Given the description of an element on the screen output the (x, y) to click on. 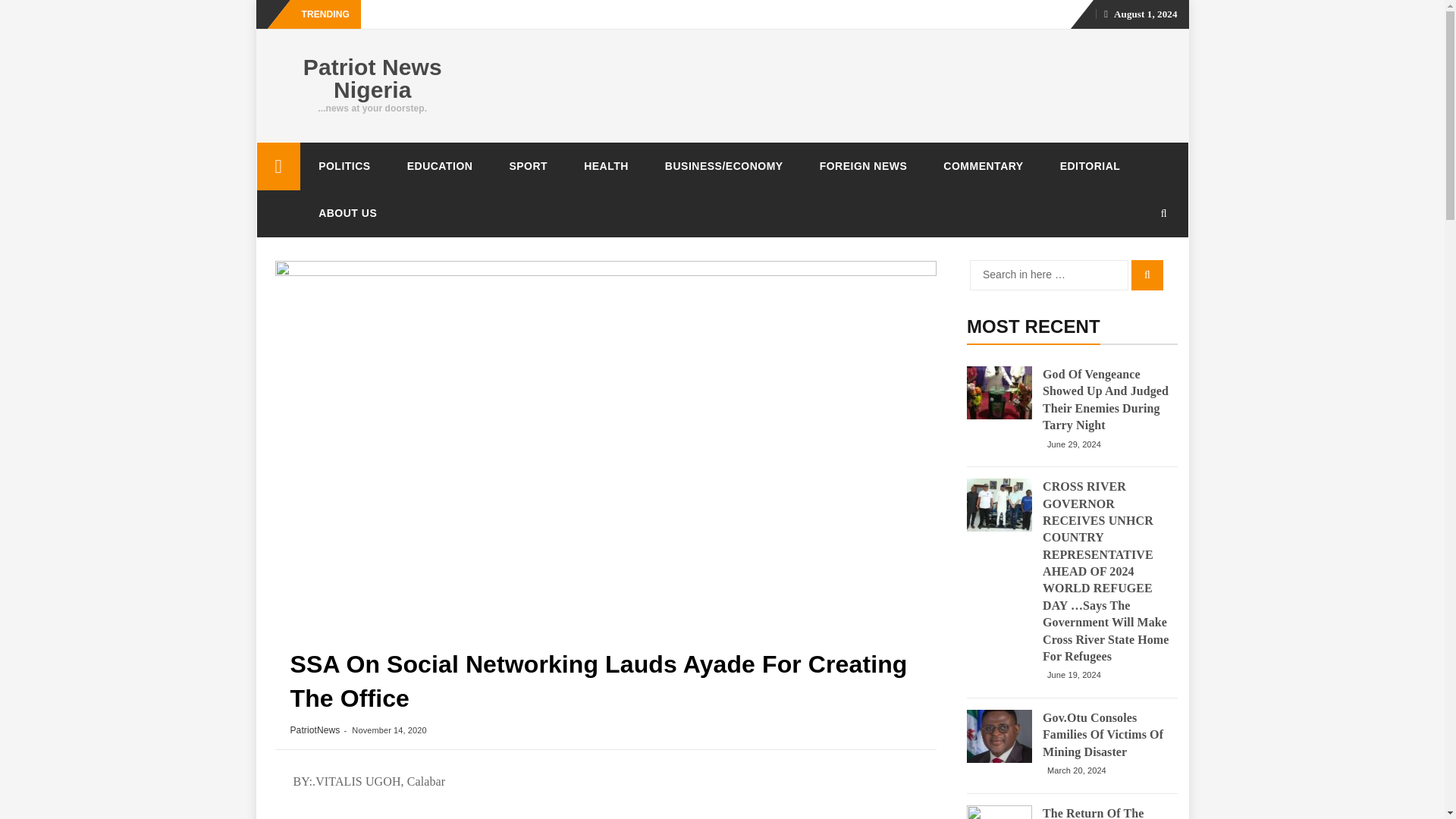
POLITICS (343, 165)
PatriotNews (314, 729)
EDITORIAL (1090, 165)
Patriot News Nigeria (372, 78)
The Return Of The Native, Tinubu Arrived Eko Ile Ogbon!!! (999, 812)
Gov.Otu Consoles Families Of Victims Of Mining Disaster (1106, 735)
Search for: (1048, 275)
COMMENTARY (982, 165)
Gov.Otu Consoles Families Of Victims Of Mining Disaster (999, 736)
